Given the description of an element on the screen output the (x, y) to click on. 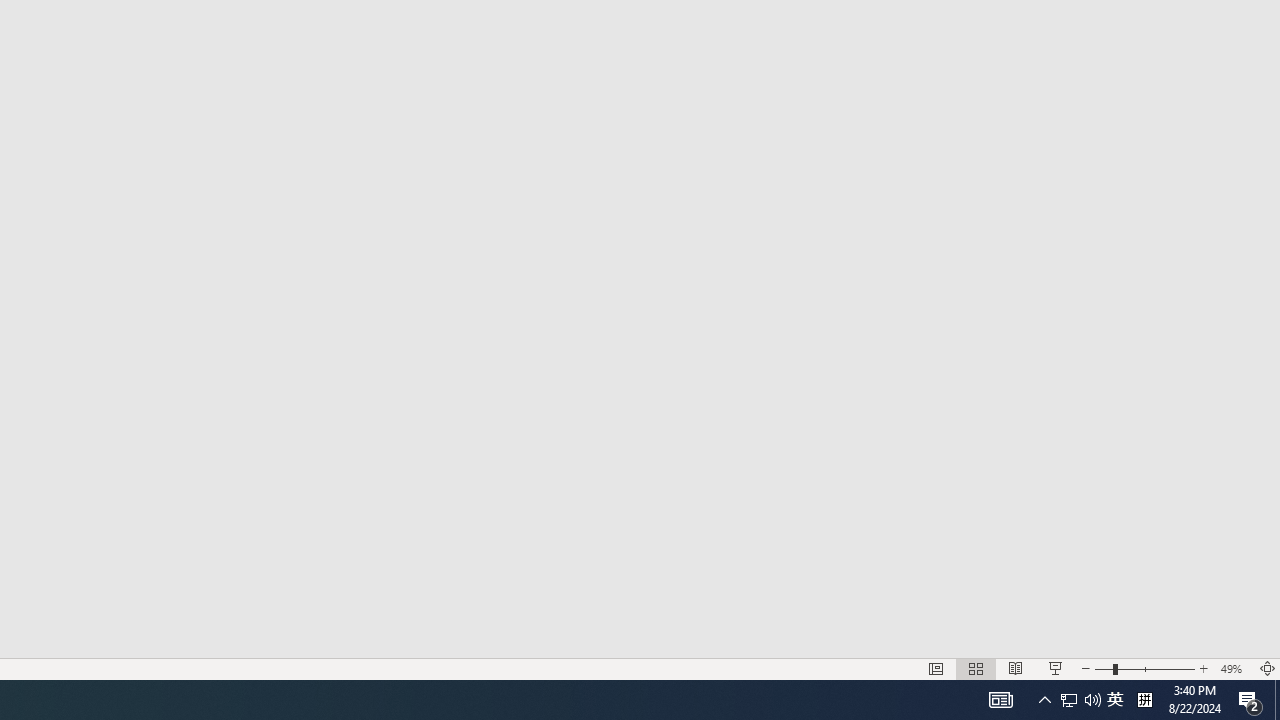
Zoom 49% (1234, 668)
